Given the description of an element on the screen output the (x, y) to click on. 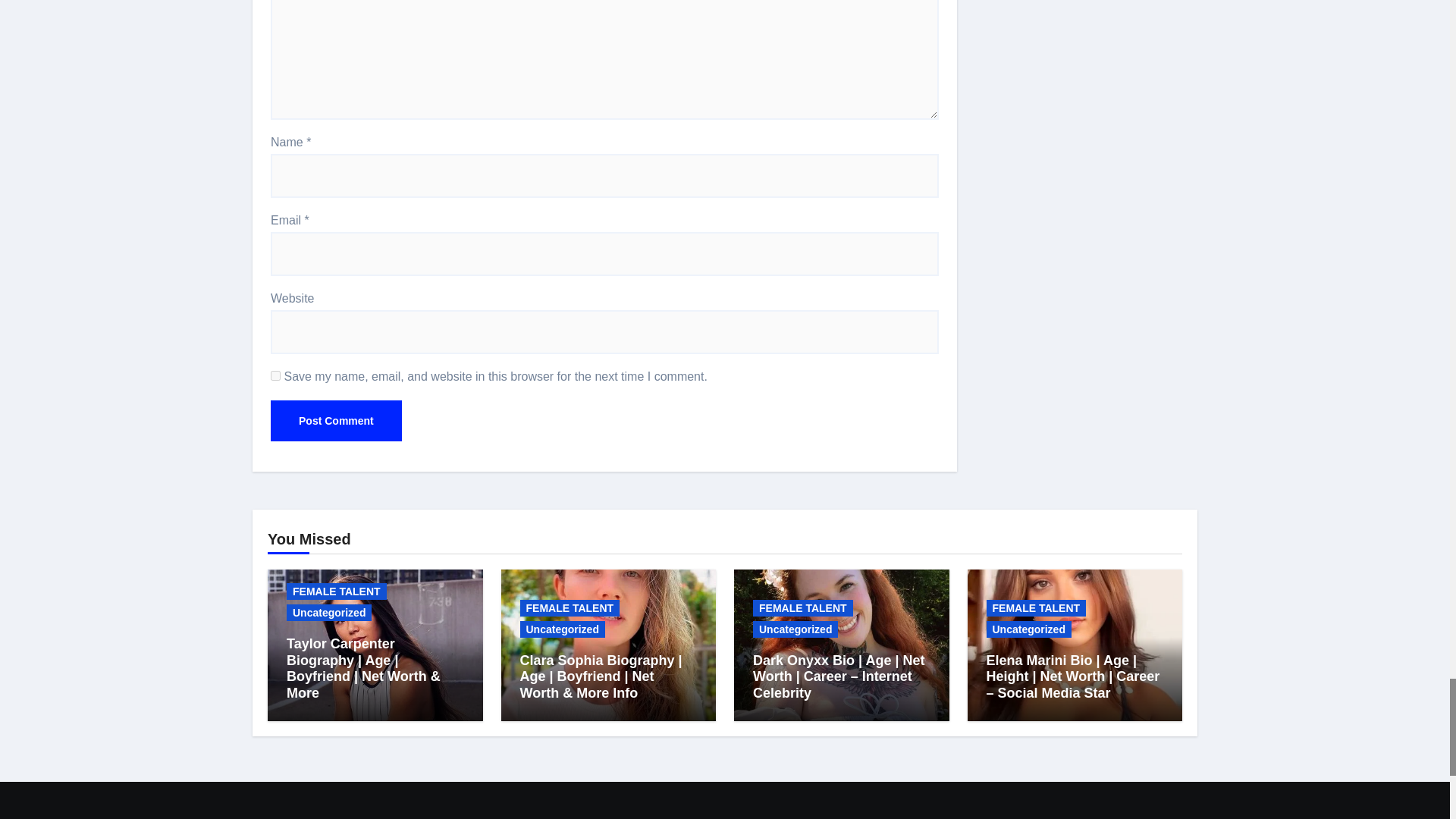
Post Comment (335, 420)
yes (275, 375)
